Given the description of an element on the screen output the (x, y) to click on. 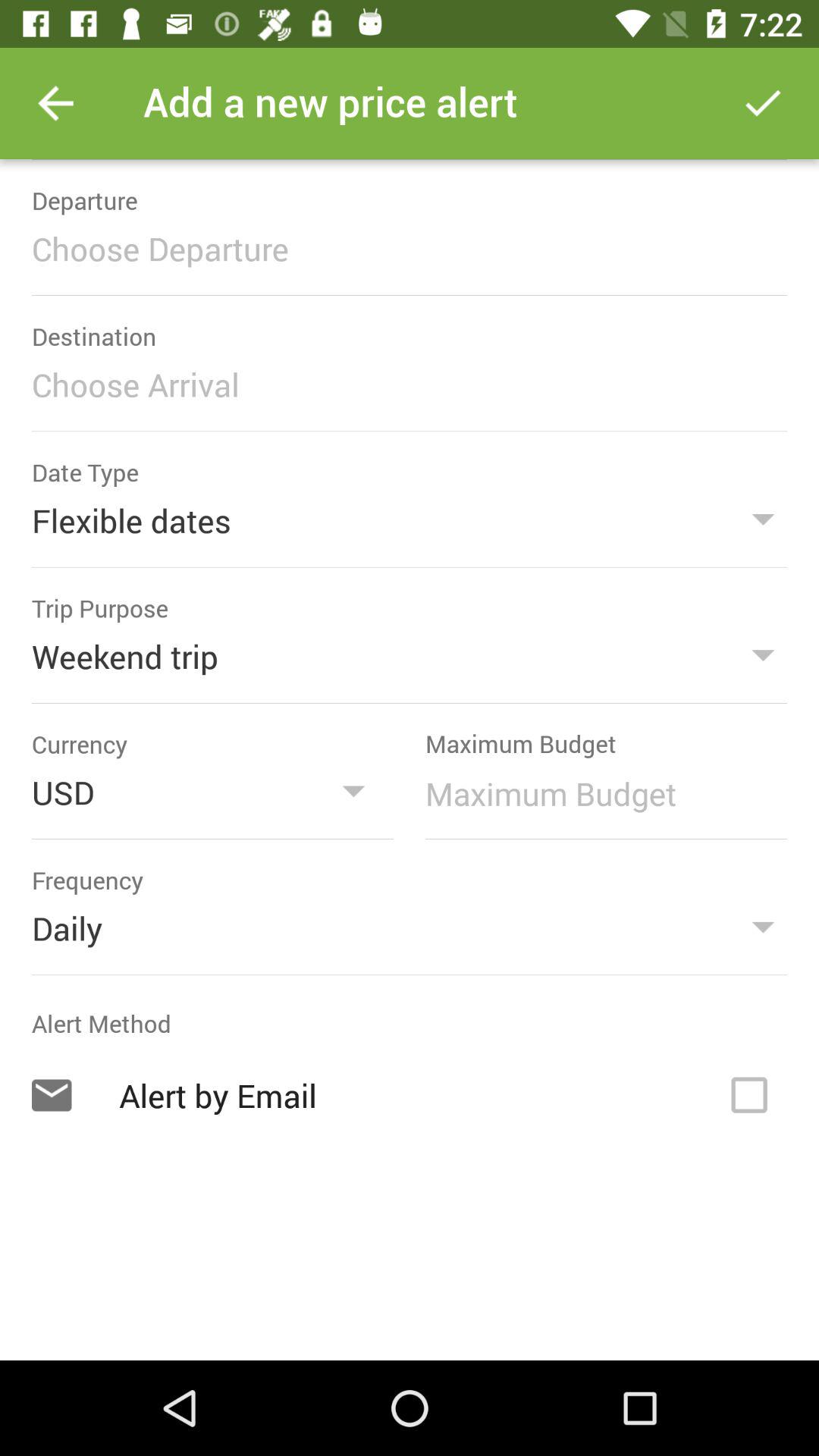
turn on the item next to add a new item (55, 103)
